Given the description of an element on the screen output the (x, y) to click on. 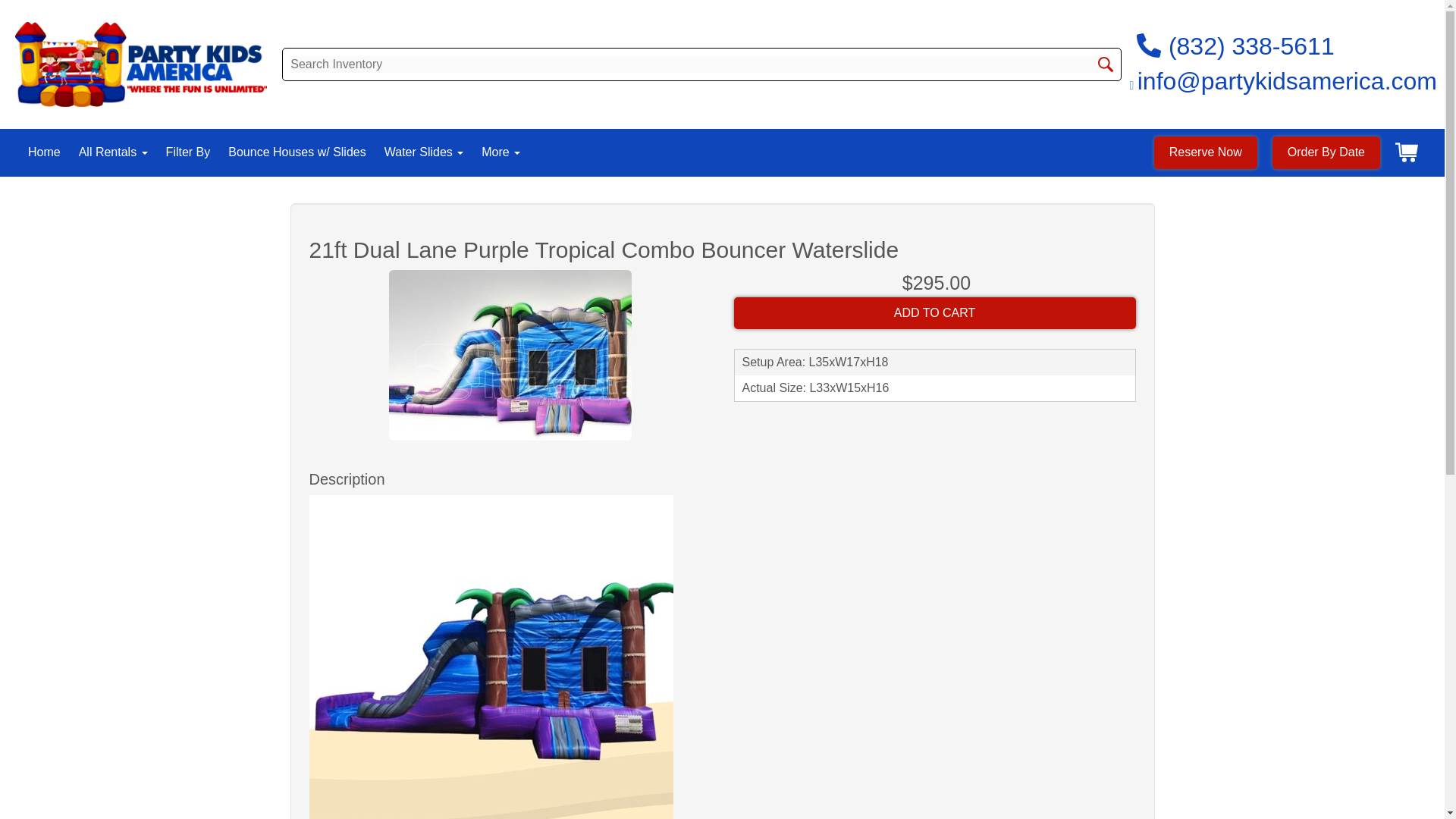
All Rentals (113, 151)
Home (44, 151)
21ft Dual Lane Purple Tropical Combo Bouncer Waterslide (509, 355)
Party Kids America  (140, 64)
More (500, 151)
Filter By (188, 151)
Water Slides (424, 151)
